Given the description of an element on the screen output the (x, y) to click on. 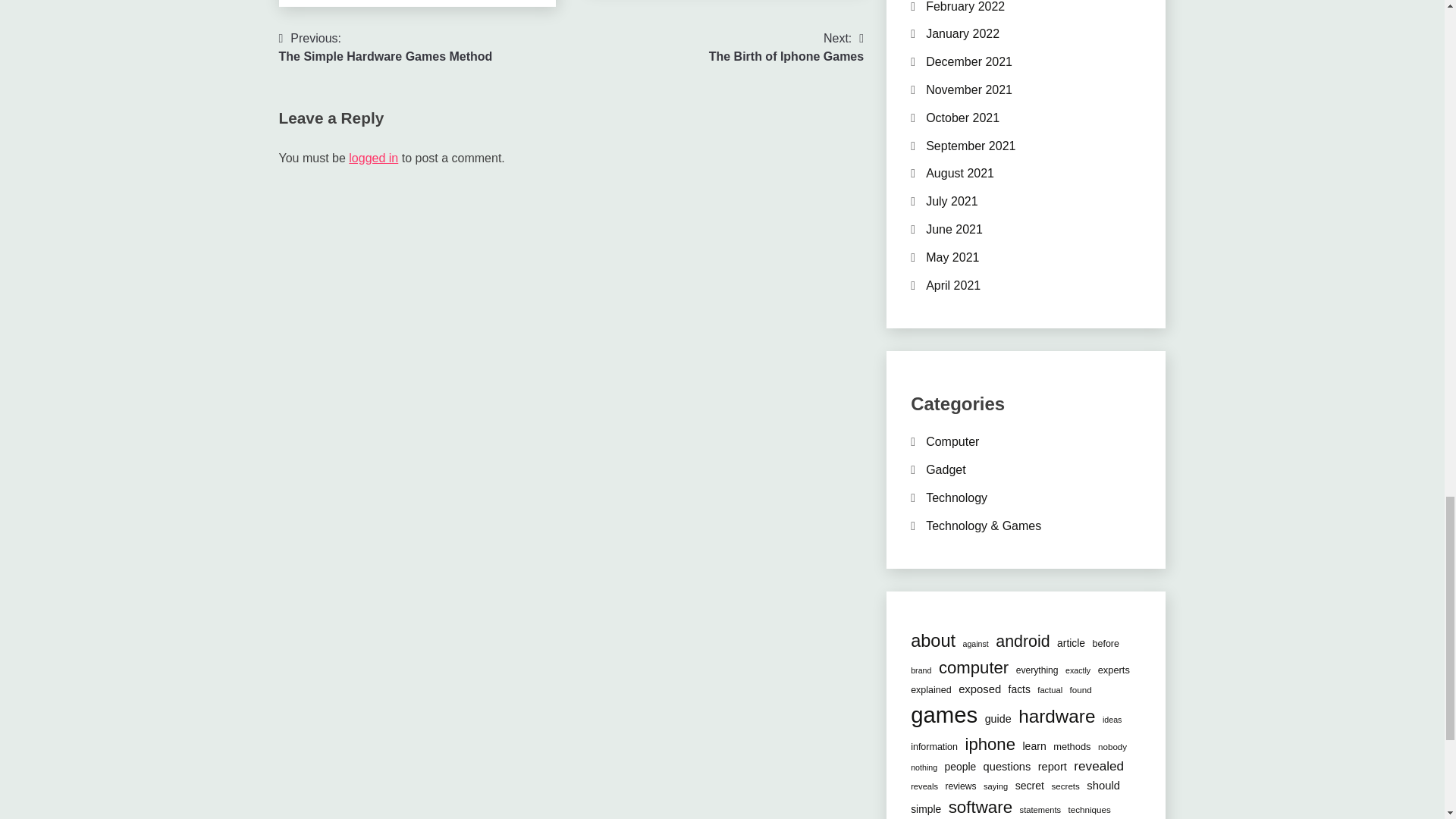
logged in (373, 157)
